Given the description of an element on the screen output the (x, y) to click on. 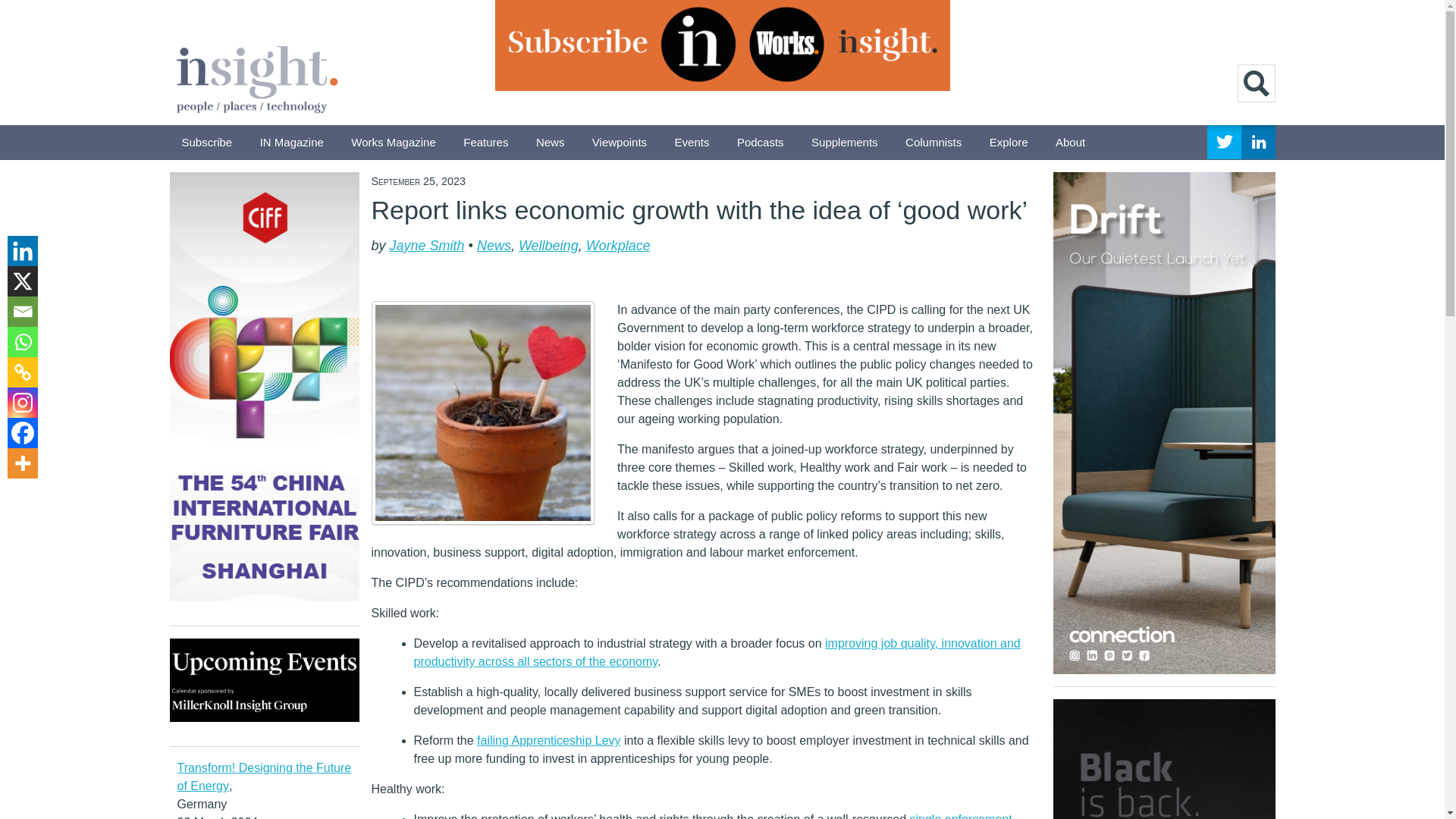
X (22, 281)
Email (22, 311)
Transform! Designing the Future of Energy (264, 776)
IN Magazine (291, 142)
Workplace Insight (256, 76)
Features (485, 142)
Explore (1008, 142)
Podcasts (760, 142)
Events (692, 142)
Viewpoints (619, 142)
